Given the description of an element on the screen output the (x, y) to click on. 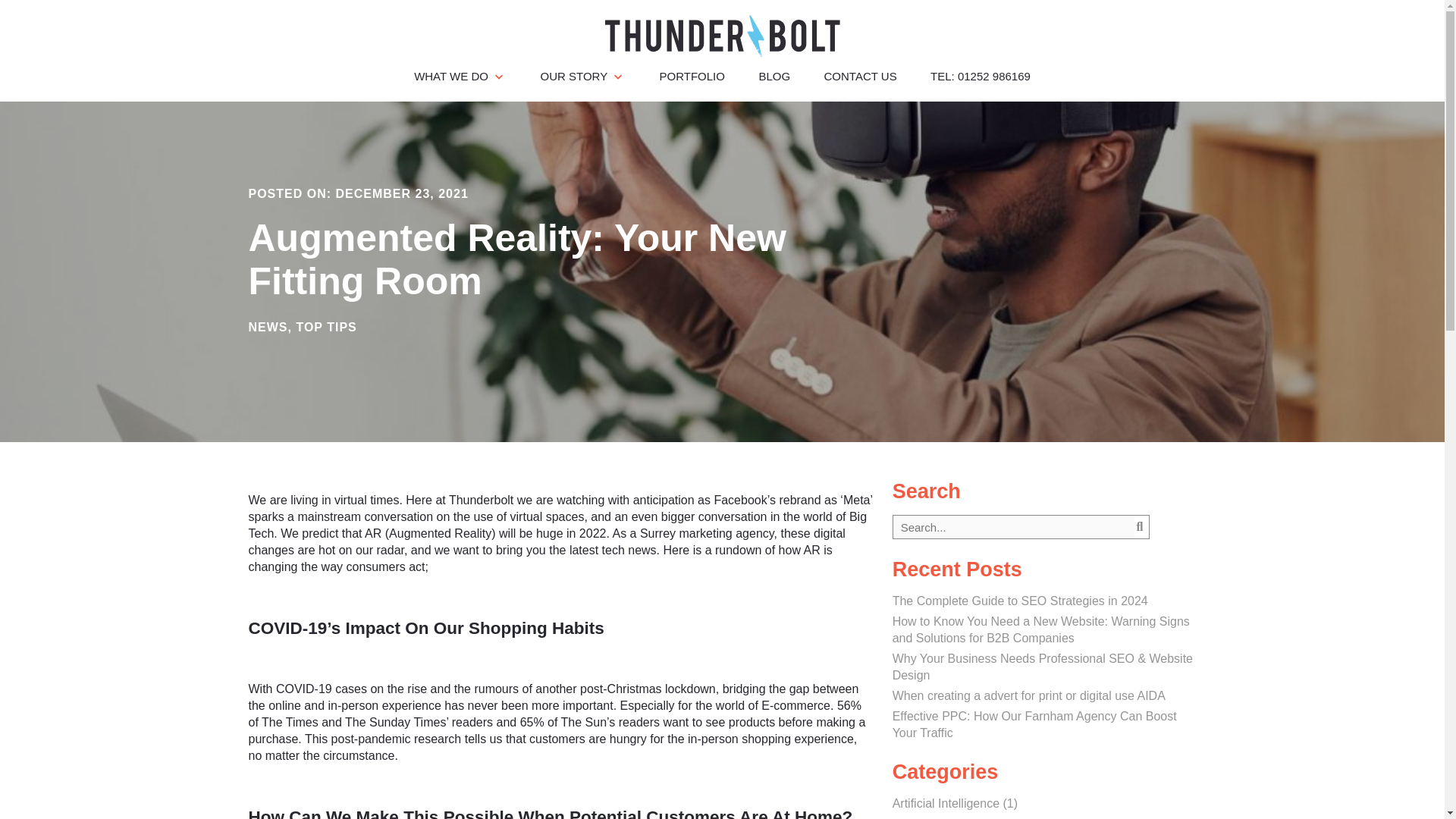
Contact Us (860, 76)
BLOG (774, 76)
Our Story (583, 76)
Thunderbolt Digital (722, 41)
TEL: 01252 986169 (980, 76)
PORTFOLIO (692, 76)
WHAT WE DO (459, 76)
CONTACT US (860, 76)
OUR STORY (583, 76)
Portfolio (692, 76)
Blog (774, 76)
What We Do (459, 76)
Tel: 01252 986169 (980, 76)
